Given the description of an element on the screen output the (x, y) to click on. 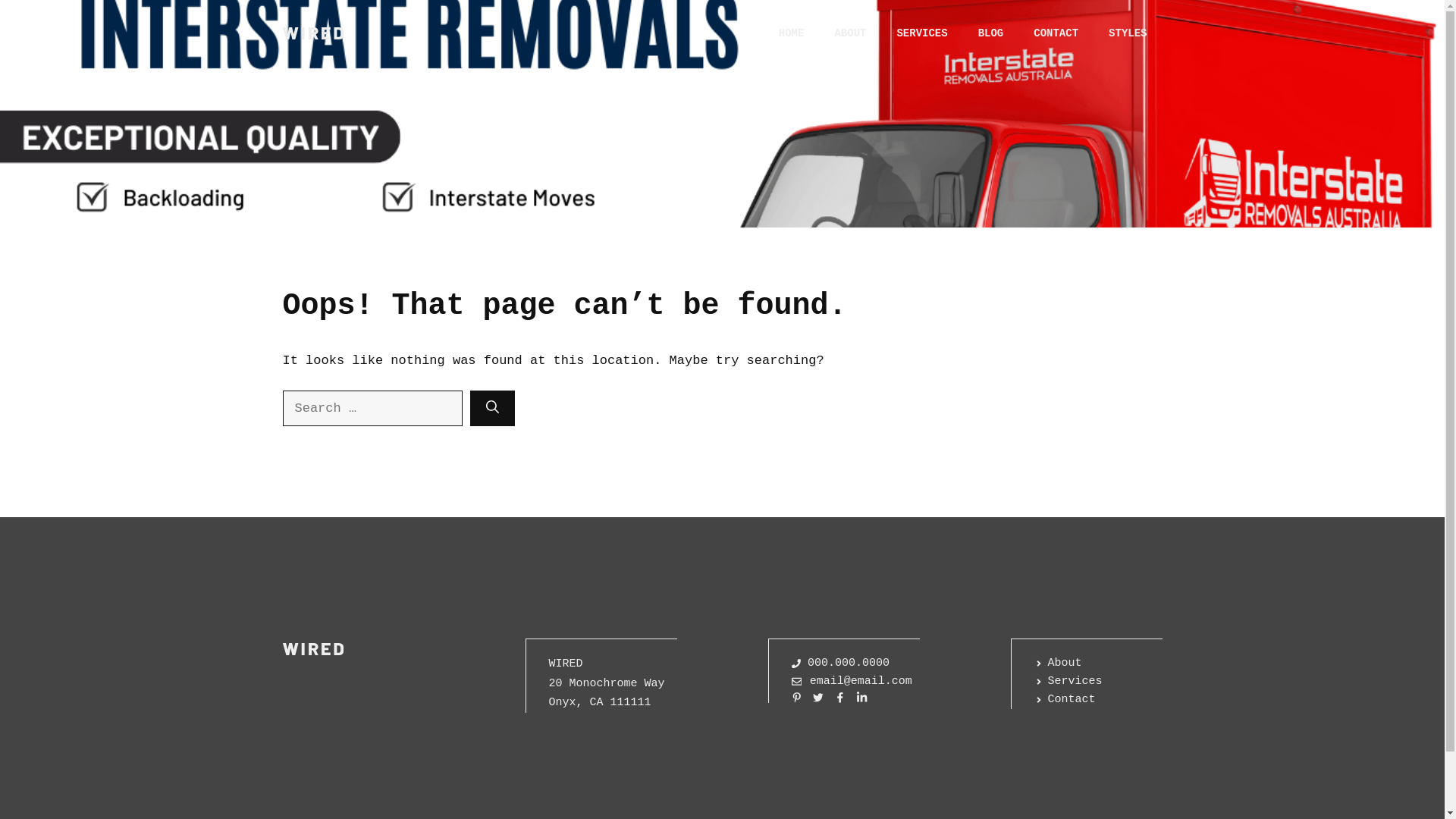
email@email.com Element type: text (851, 681)
SERVICES Element type: text (921, 32)
CONTACT Element type: text (1055, 32)
Services Element type: text (1068, 681)
Contact Element type: text (1064, 699)
000.000.0000 Element type: text (840, 663)
BLOG Element type: text (991, 32)
About Element type: text (1058, 663)
STYLES Element type: text (1127, 32)
ABOUT Element type: text (850, 32)
HOME Element type: text (791, 32)
Search for: Element type: hover (371, 408)
